Given the description of an element on the screen output the (x, y) to click on. 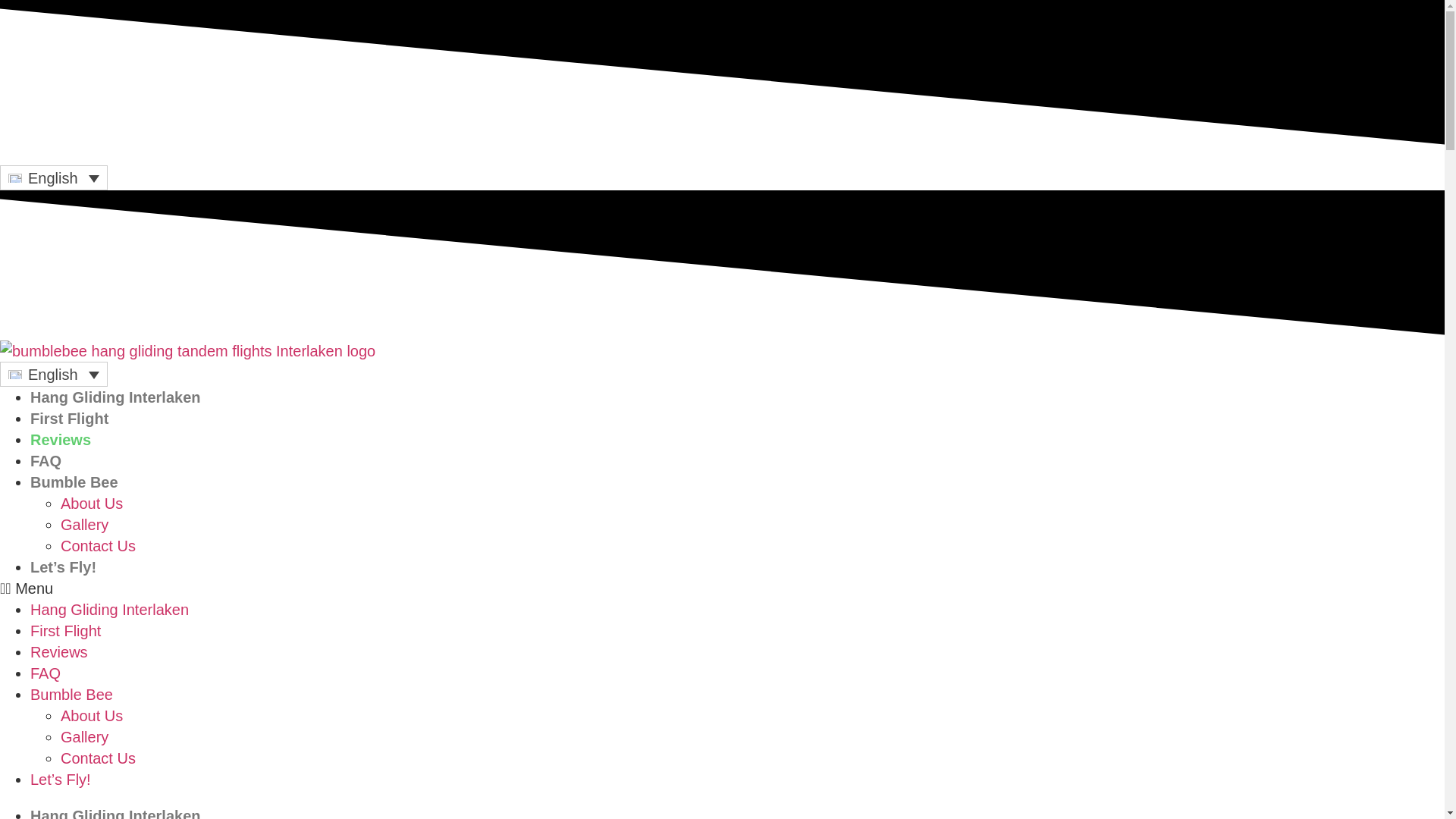
Reviews (58, 651)
Contact Us (98, 545)
First Flight (65, 630)
Reviews (60, 439)
Gallery (84, 524)
Hang Gliding Interlaken (109, 609)
First Flight (68, 418)
FAQ (45, 460)
English (53, 374)
FAQ (45, 673)
About Us (91, 503)
Bumble Bee (73, 482)
Gallery (84, 736)
English (53, 177)
